Given the description of an element on the screen output the (x, y) to click on. 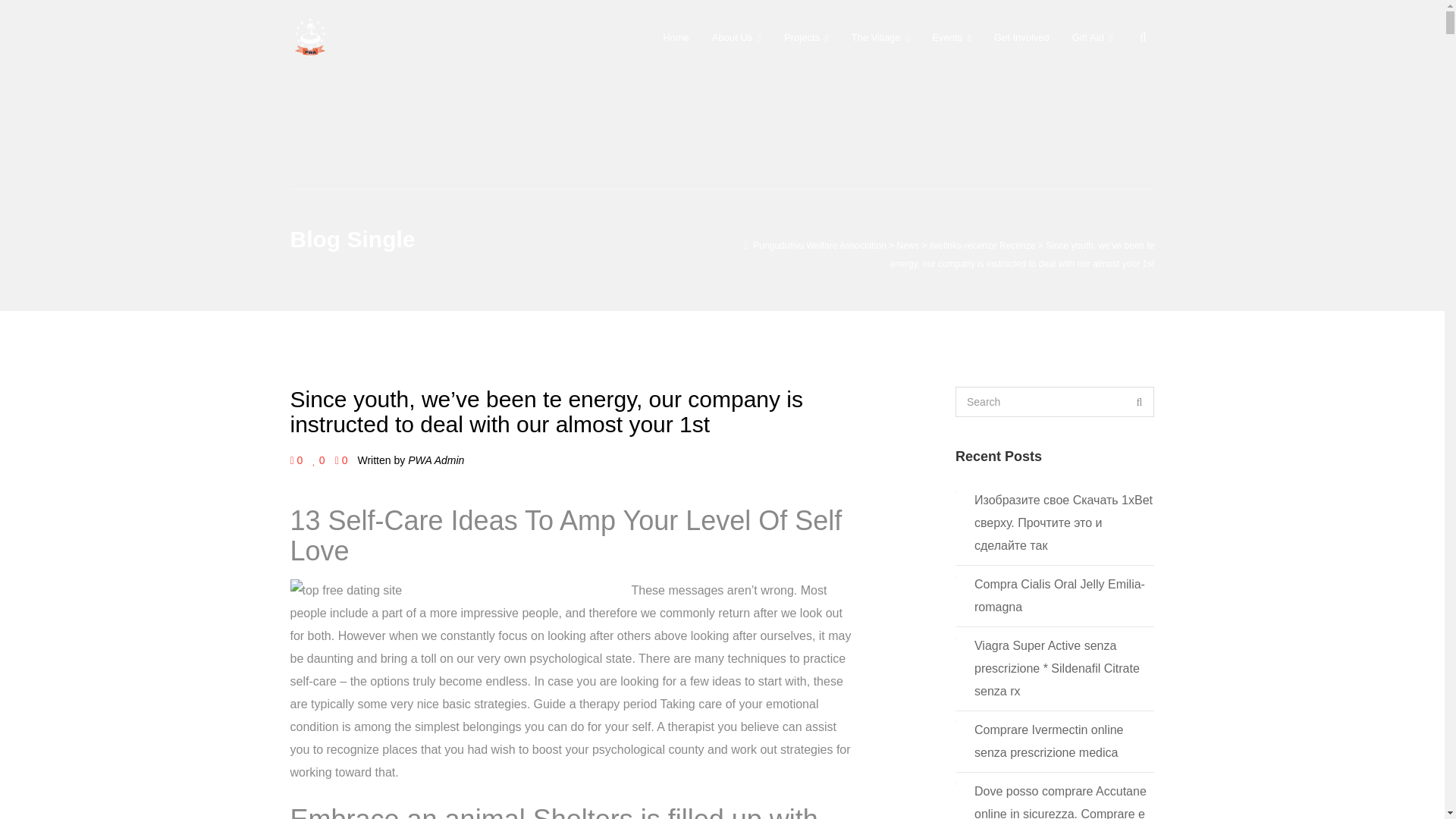
Pungudutivu Welfare Association (818, 245)
livelinks-recenze Recenze (982, 245)
Go to Pungudutivu Welfare Association. (818, 245)
Home (675, 37)
Go to News. (907, 245)
Events (951, 37)
News (907, 245)
Get Involved (1021, 37)
Posts by PWA Admin (435, 460)
Projects (806, 37)
